Given the description of an element on the screen output the (x, y) to click on. 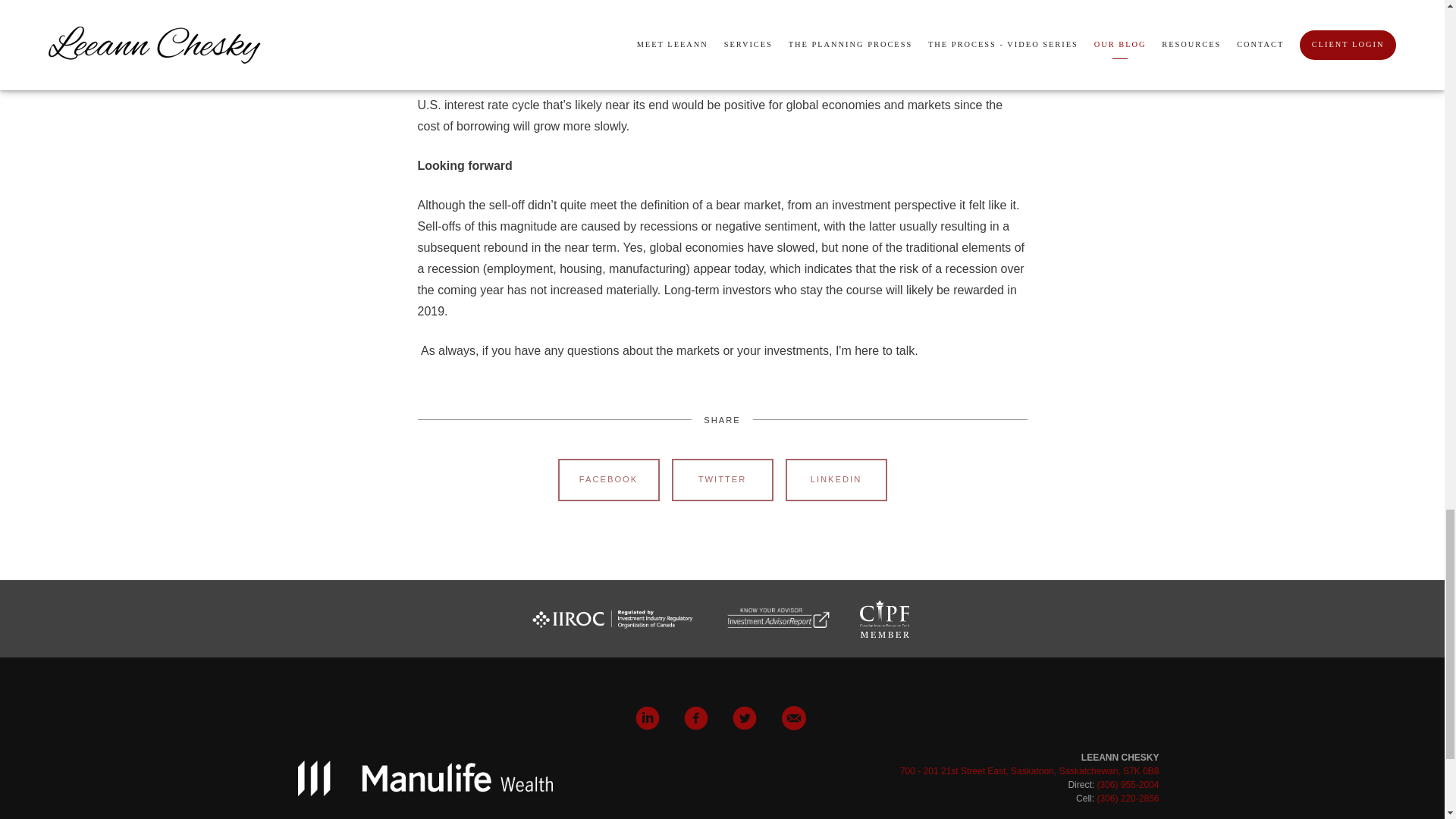
LINKEDIN (836, 479)
TWITTER (722, 479)
700 - 201 21st Street East, Saskatoon, Saskatchewan, S7K 0B8 (1028, 770)
FACEBOOK (608, 479)
